Given the description of an element on the screen output the (x, y) to click on. 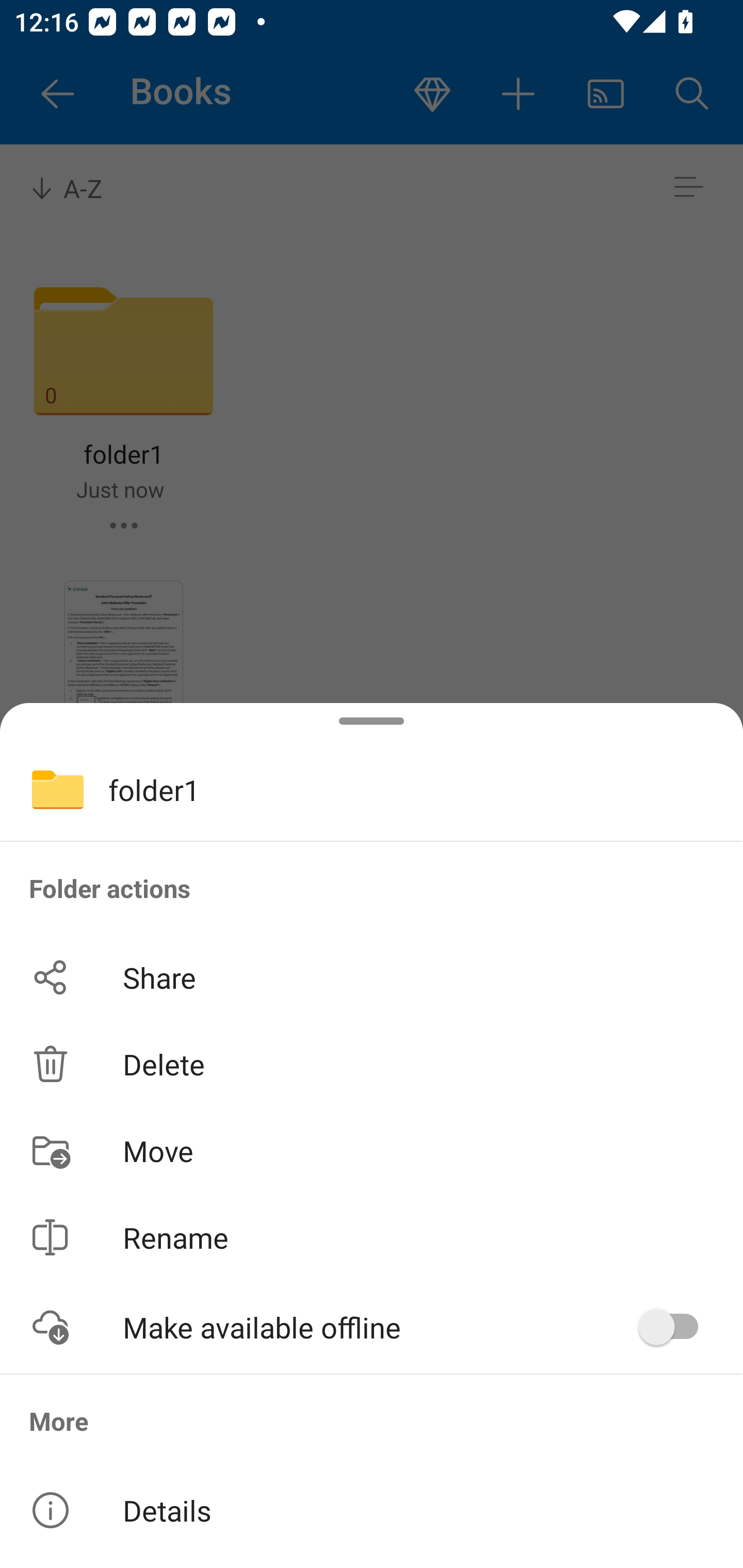
Share button Share (371, 977)
Delete button Delete (371, 1063)
Move button Move (371, 1150)
Rename button Rename (371, 1237)
Make offline operation (674, 1327)
Details button Details (371, 1510)
